Given the description of an element on the screen output the (x, y) to click on. 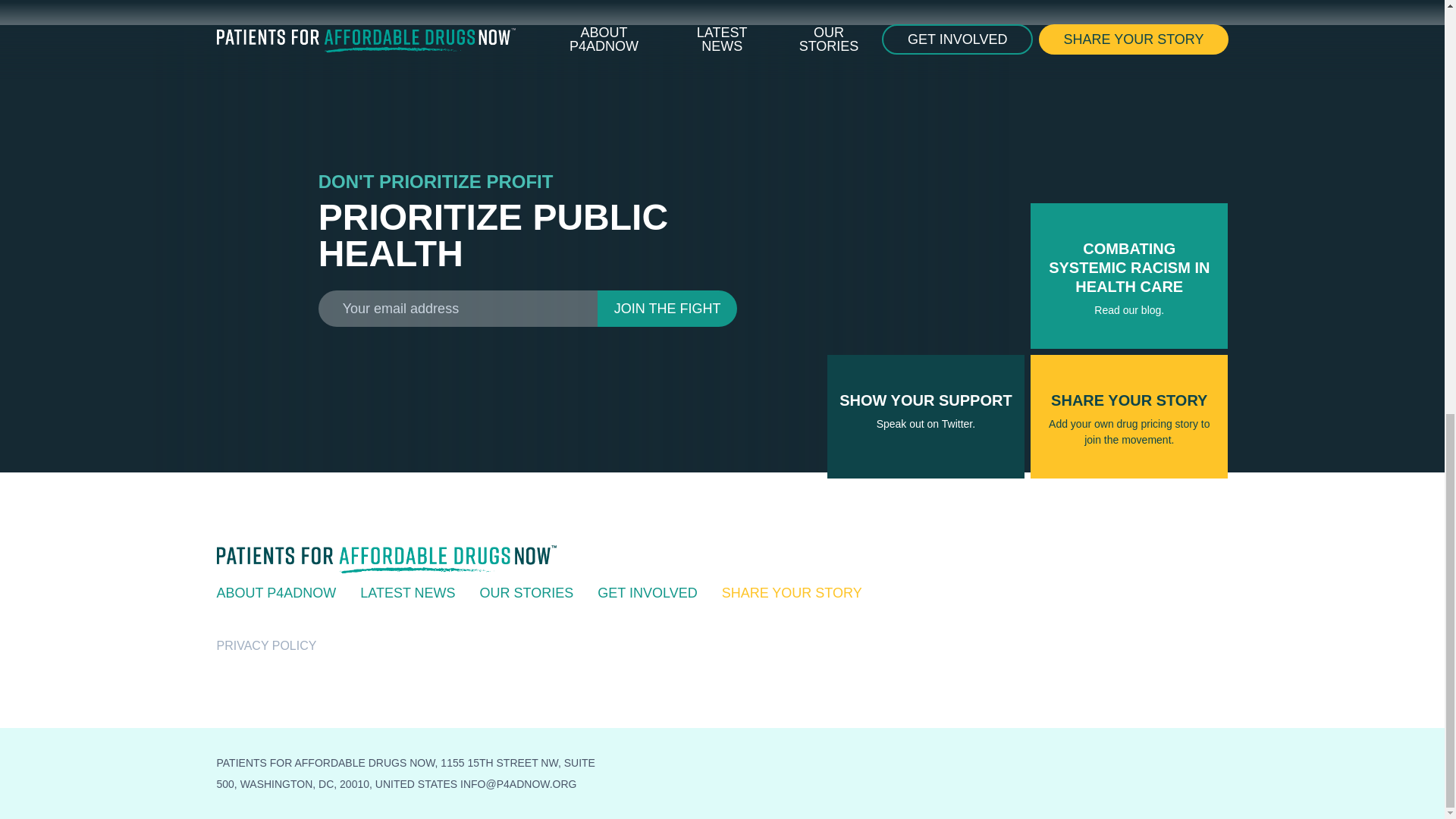
OUR STORIES (526, 592)
JOIN THE FIGHT (926, 416)
PRIVACY POLICY (666, 308)
LATEST NEWS (266, 645)
ABOUT P4ADNOW (406, 592)
GET INVOLVED (276, 592)
SHARE YOUR STORY (646, 592)
